Given the description of an element on the screen output the (x, y) to click on. 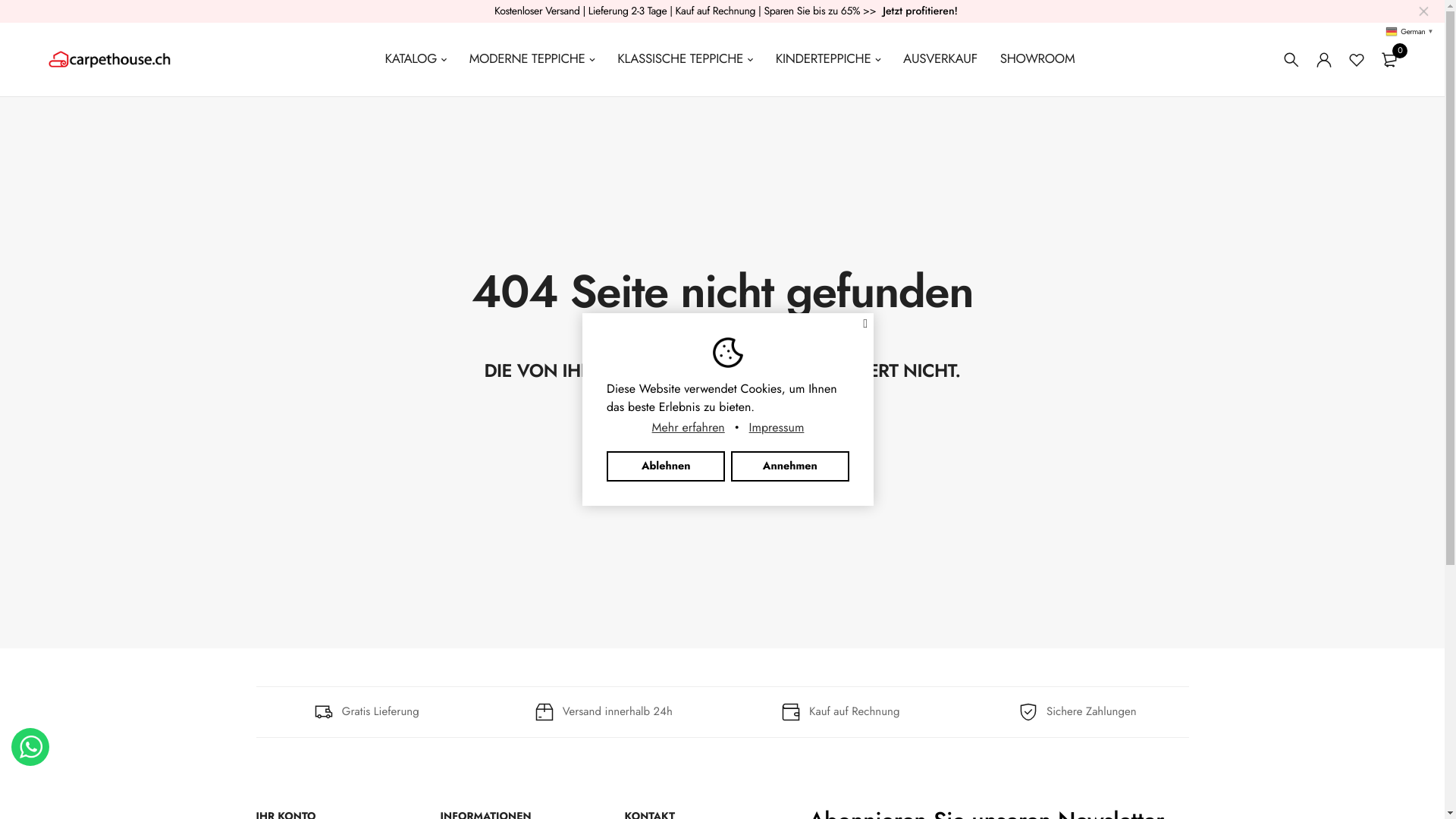
Mehr erfahren Element type: text (688, 427)
MODERNE TEPPICHE Element type: text (532, 59)
Ablehnen Element type: text (665, 466)
0 Element type: text (1388, 58)
AUSVERKAUF Element type: text (940, 59)
SHOWROOM Element type: text (1037, 59)
MIT WHATSAPP BESTELLEN Element type: text (30, 746)
Annehmen Element type: text (790, 466)
KATALOG Element type: text (415, 59)
Jetzt profitieren! Element type: text (919, 10)
KINDERTEPPICHE Element type: text (827, 59)
Impressum Element type: text (776, 427)
KLASSISCHE TEPPICHE Element type: text (685, 59)
